Given the description of an element on the screen output the (x, y) to click on. 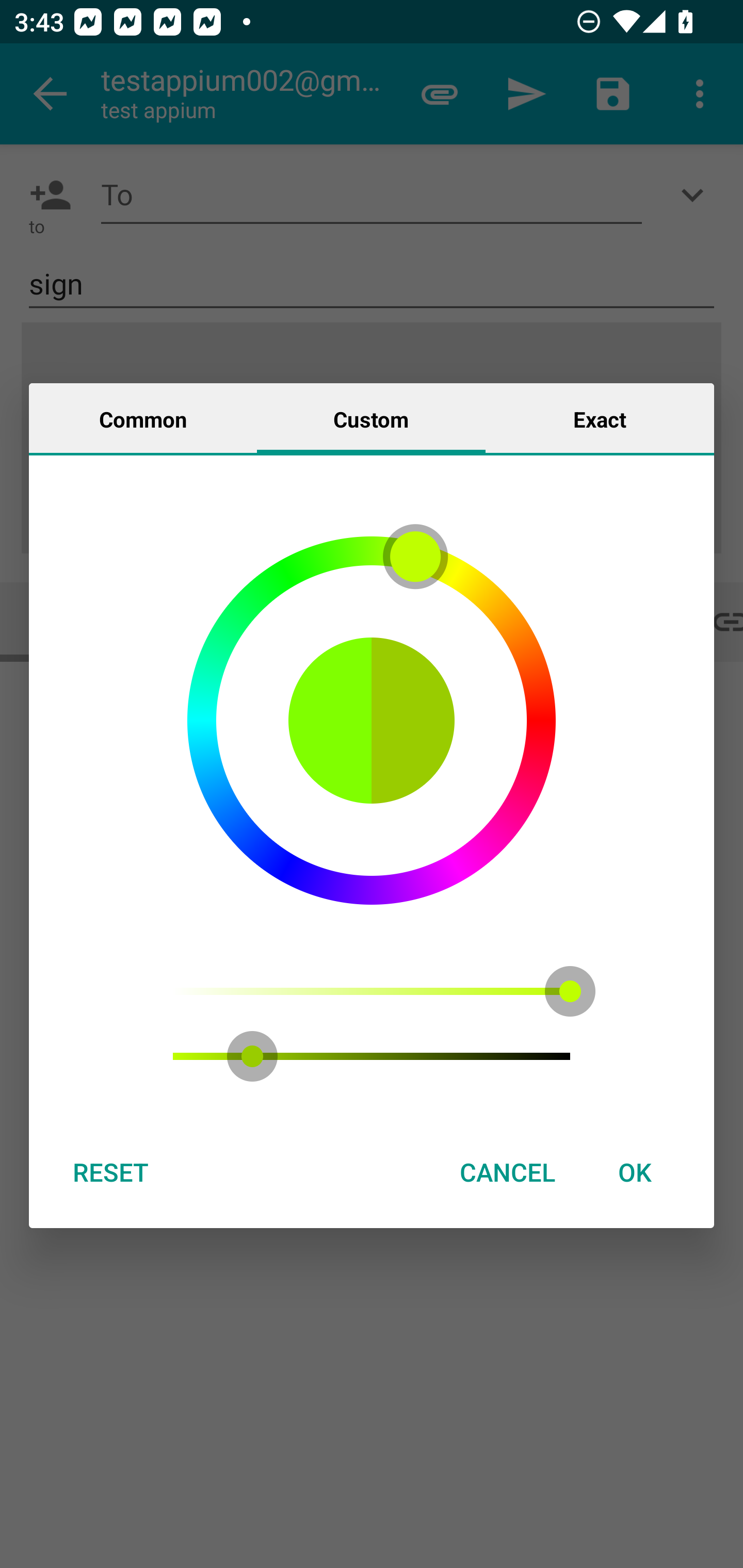
Common (142, 418)
Custom (371, 418)
Exact (599, 418)
RESET (110, 1171)
CANCEL (507, 1171)
OK (634, 1171)
